Given the description of an element on the screen output the (x, y) to click on. 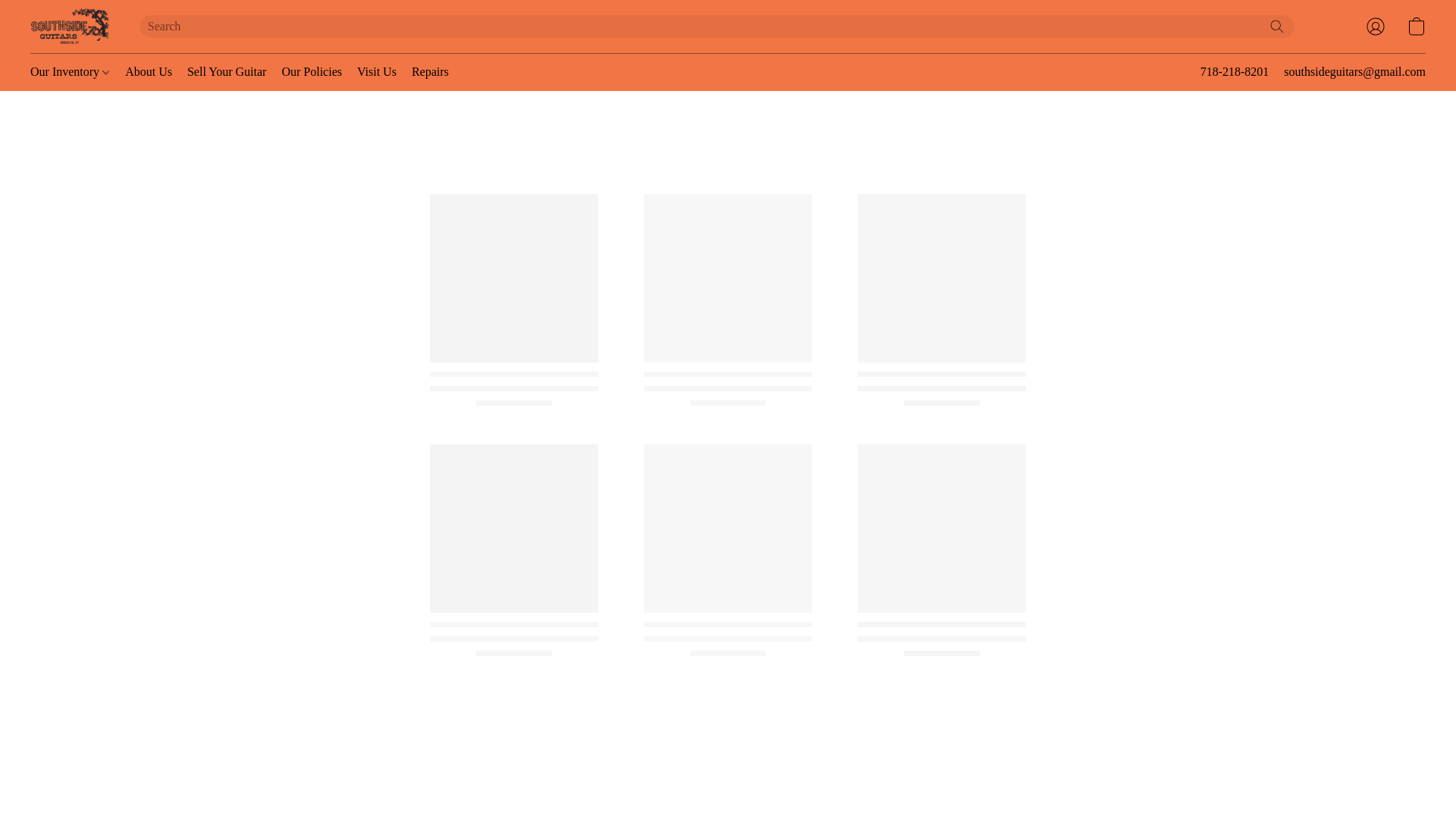
Our Inventory (73, 71)
Visit Us (376, 71)
Repairs (426, 71)
718-218-8201 (1234, 71)
About Us (148, 71)
Go to your shopping cart (1416, 26)
Our Policies (311, 71)
Sell Your Guitar (226, 71)
